Given the description of an element on the screen output the (x, y) to click on. 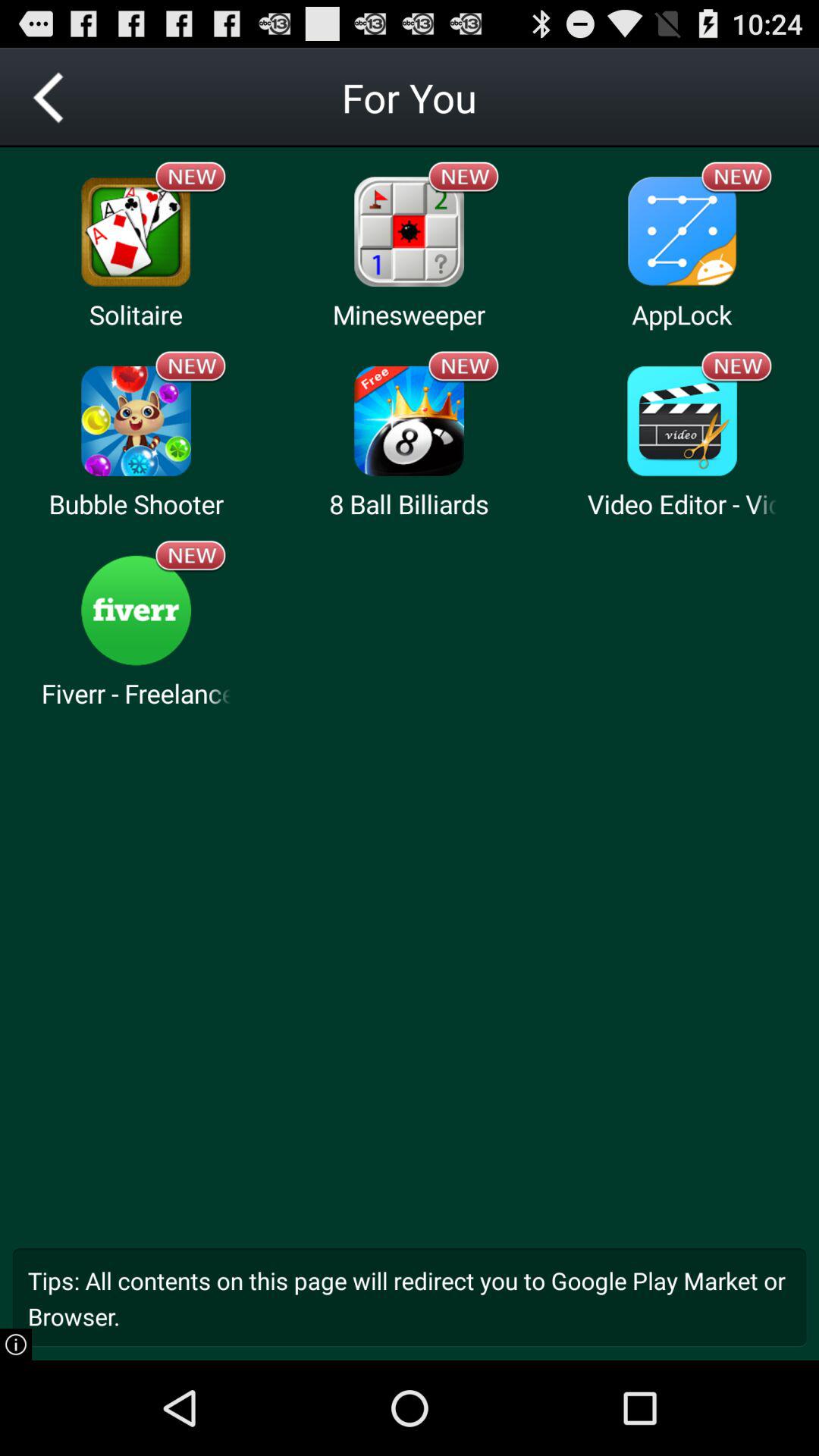
choose fiverr app (136, 610)
